Given the description of an element on the screen output the (x, y) to click on. 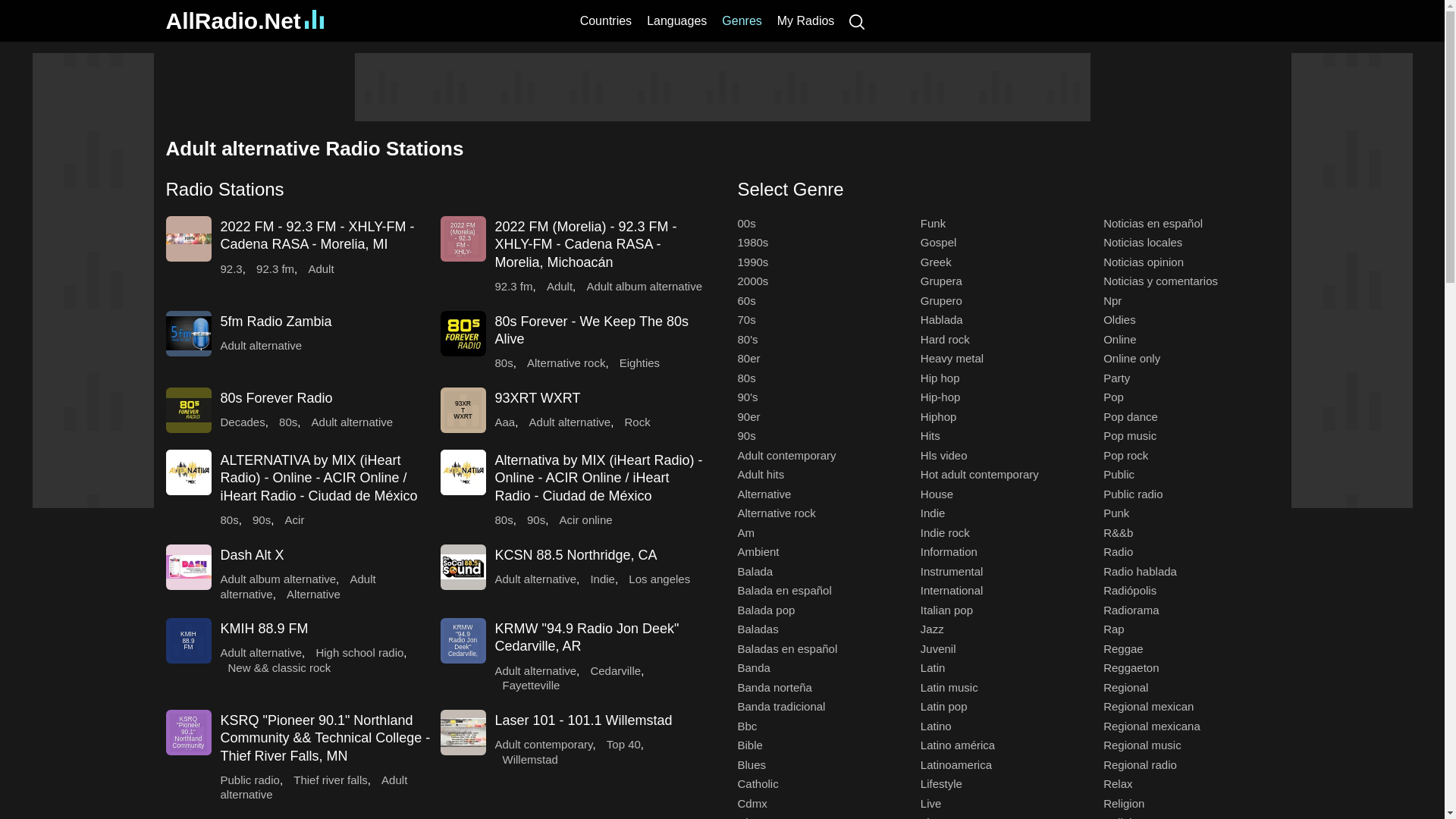
AllRadio.Net (244, 20)
Alternative rock (566, 362)
Languages (676, 20)
5fm Radio Zambia (275, 321)
93XRT WXRT (461, 410)
Adult album alternative (643, 286)
Adult (320, 268)
Adult alternative (260, 345)
92.3 fm (275, 268)
80s Forever - We Keep The 80s Alive (591, 329)
80s (228, 519)
92.3 fm (513, 286)
Eighties (639, 362)
Acir (294, 519)
80s Forever - We Keep The 80s Alive (591, 329)
